Given the description of an element on the screen output the (x, y) to click on. 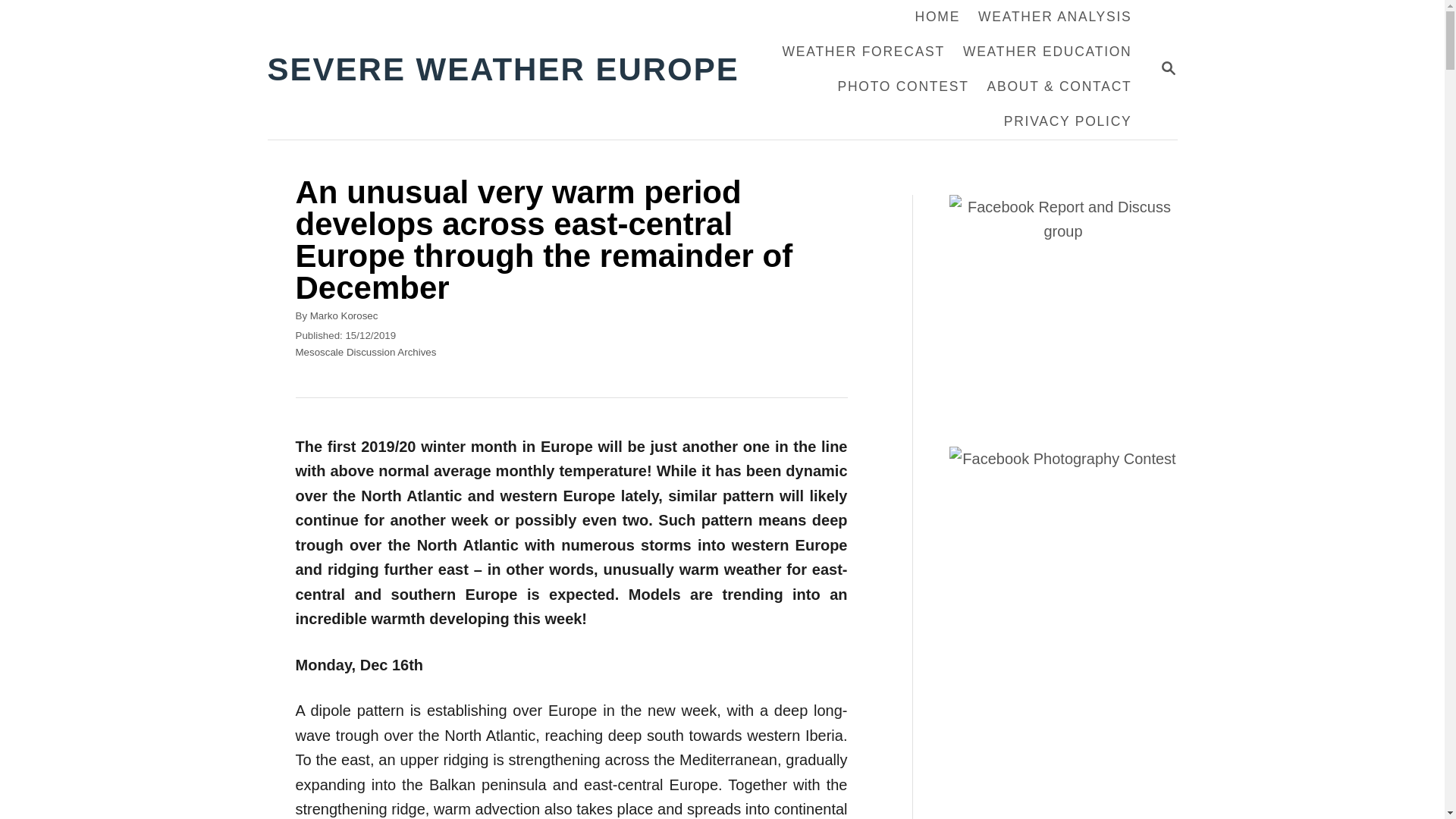
WEATHER EDUCATION (1047, 52)
Mesoscale Discussion Archives (365, 351)
WEATHER ANALYSIS (1167, 68)
MAGNIFYING GLASS (1054, 17)
HOME (1167, 67)
Marko Korosec (937, 17)
Severe Weather Europe (344, 315)
WEATHER FORECAST (511, 70)
PHOTO CONTEST (863, 52)
